Given the description of an element on the screen output the (x, y) to click on. 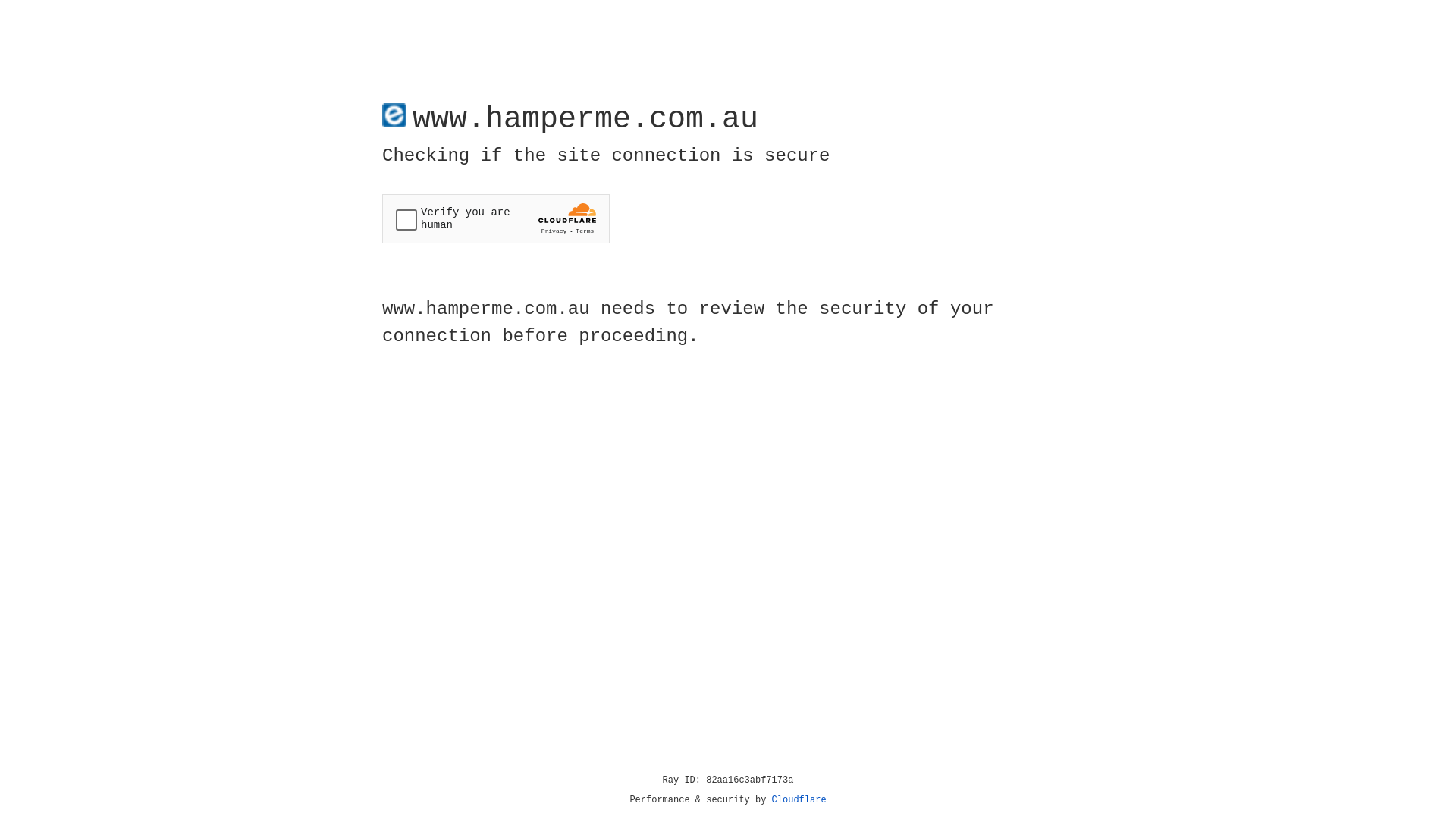
Cloudflare Element type: text (798, 799)
Widget containing a Cloudflare security challenge Element type: hover (495, 218)
